Given the description of an element on the screen output the (x, y) to click on. 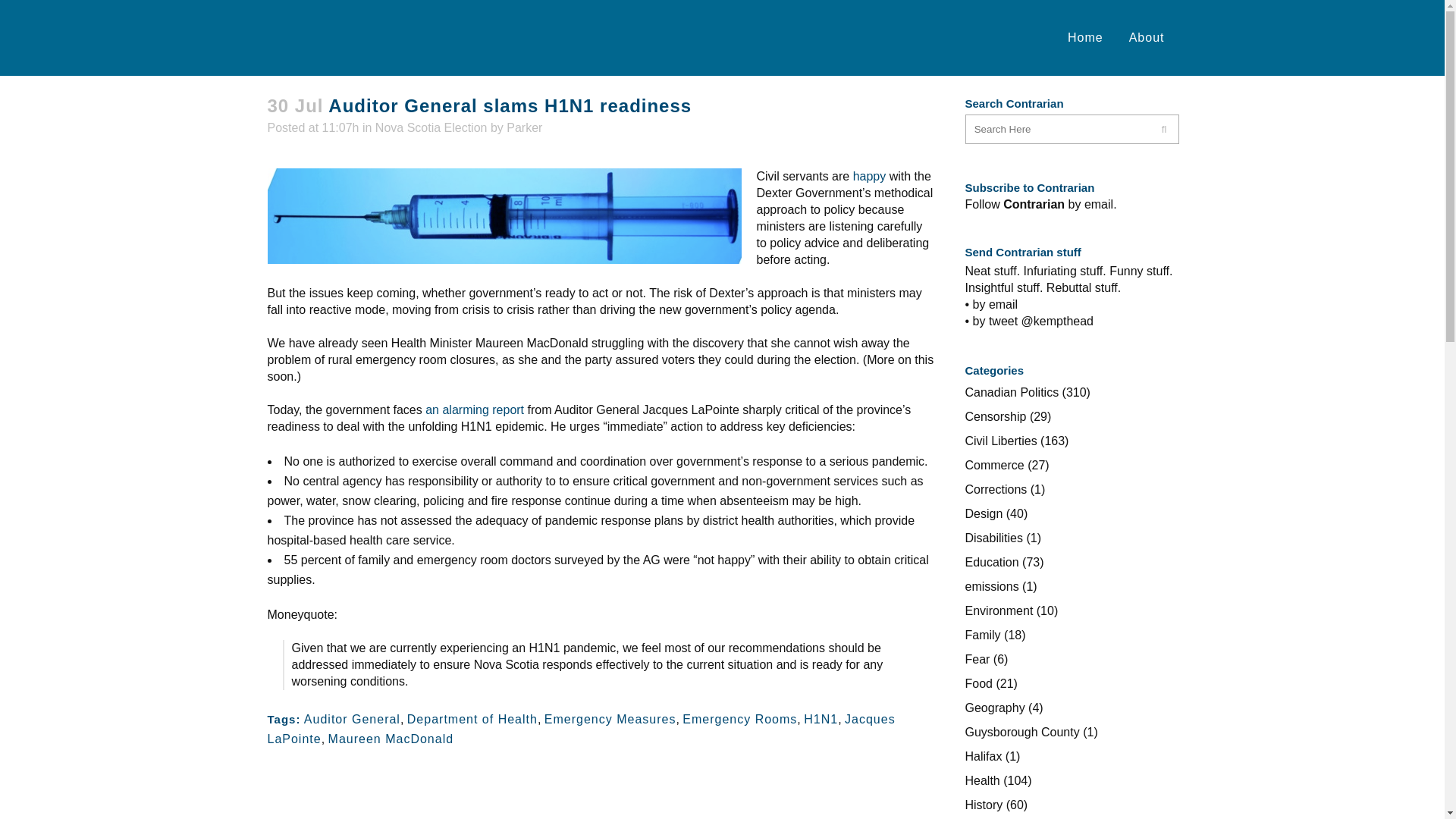
an alarming report (474, 409)
Nova Scotia Election (431, 127)
Maureen MacDonald (391, 738)
Fear (976, 658)
Jacques LaPointe (580, 728)
Corrections (994, 489)
History (983, 804)
Commerce (993, 464)
Emergency Measures (610, 718)
Emergency Rooms (739, 718)
